Given the description of an element on the screen output the (x, y) to click on. 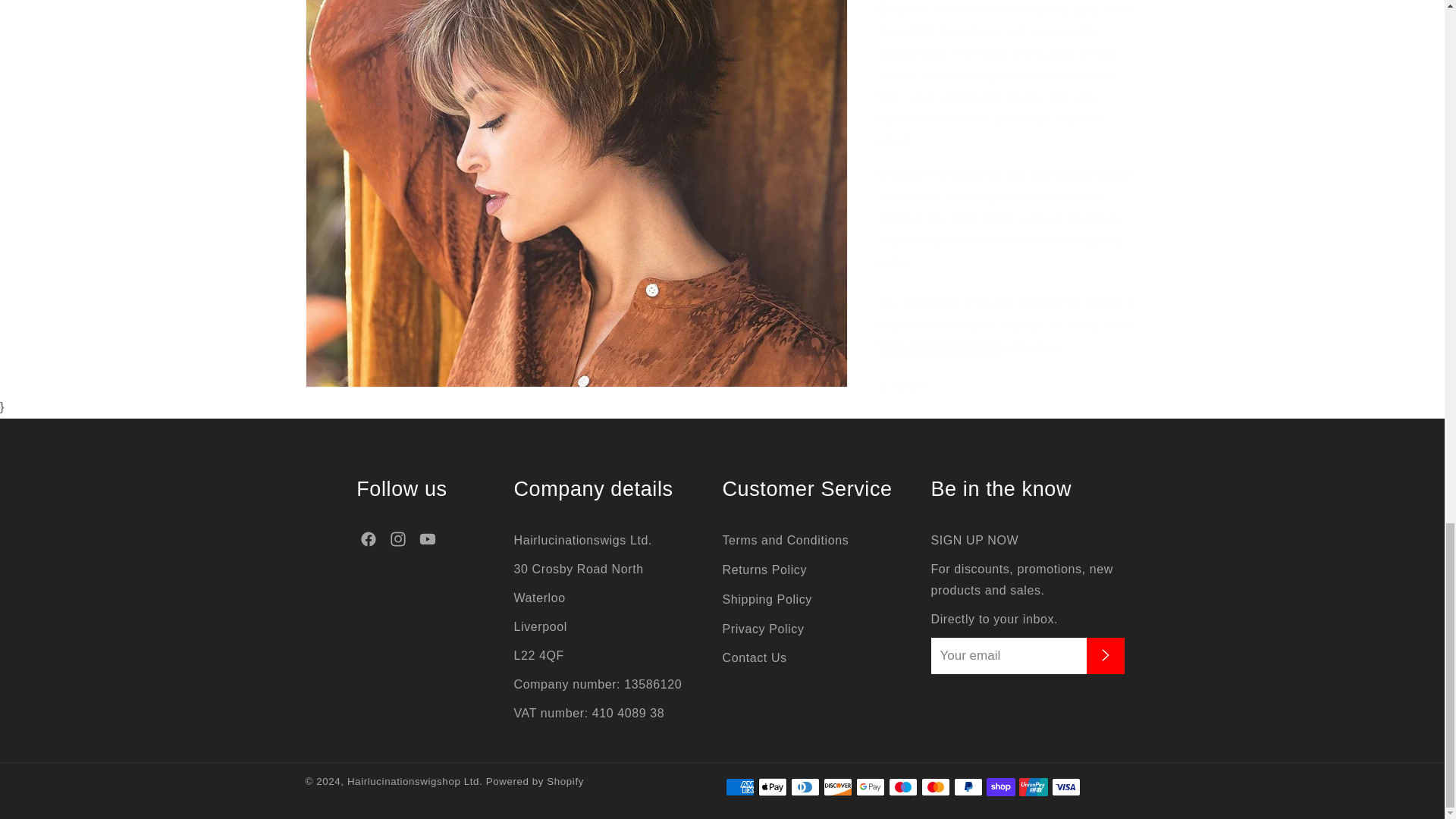
Diners Club (804, 787)
American Express (739, 787)
Discover (837, 787)
Google Pay (869, 787)
Apple Pay (772, 787)
WIG ACCESSORIES (938, 335)
Maestro (902, 787)
